Given the description of an element on the screen output the (x, y) to click on. 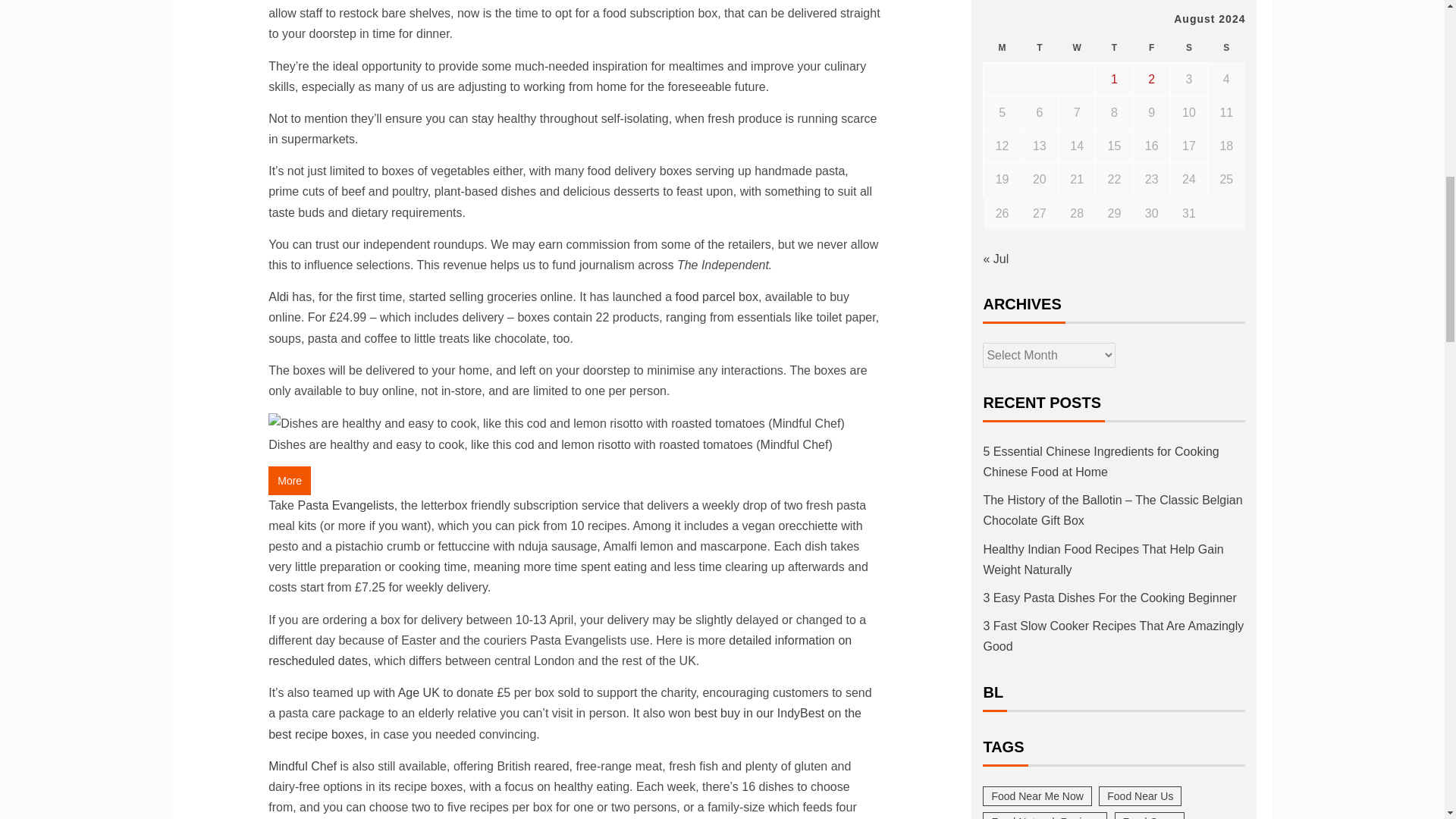
Mindful Chef (303, 766)
Tuesday (1039, 48)
Wednesday (1077, 48)
best buy in our IndyBest on the best recipe boxes (564, 723)
Friday (1151, 48)
Age UK (418, 692)
Aldi (277, 296)
Monday (1002, 48)
food parcel box (716, 296)
More (289, 480)
Thursday (1114, 48)
detailed information on rescheduled dates, (559, 650)
Pasta Evangelists (345, 504)
